Given the description of an element on the screen output the (x, y) to click on. 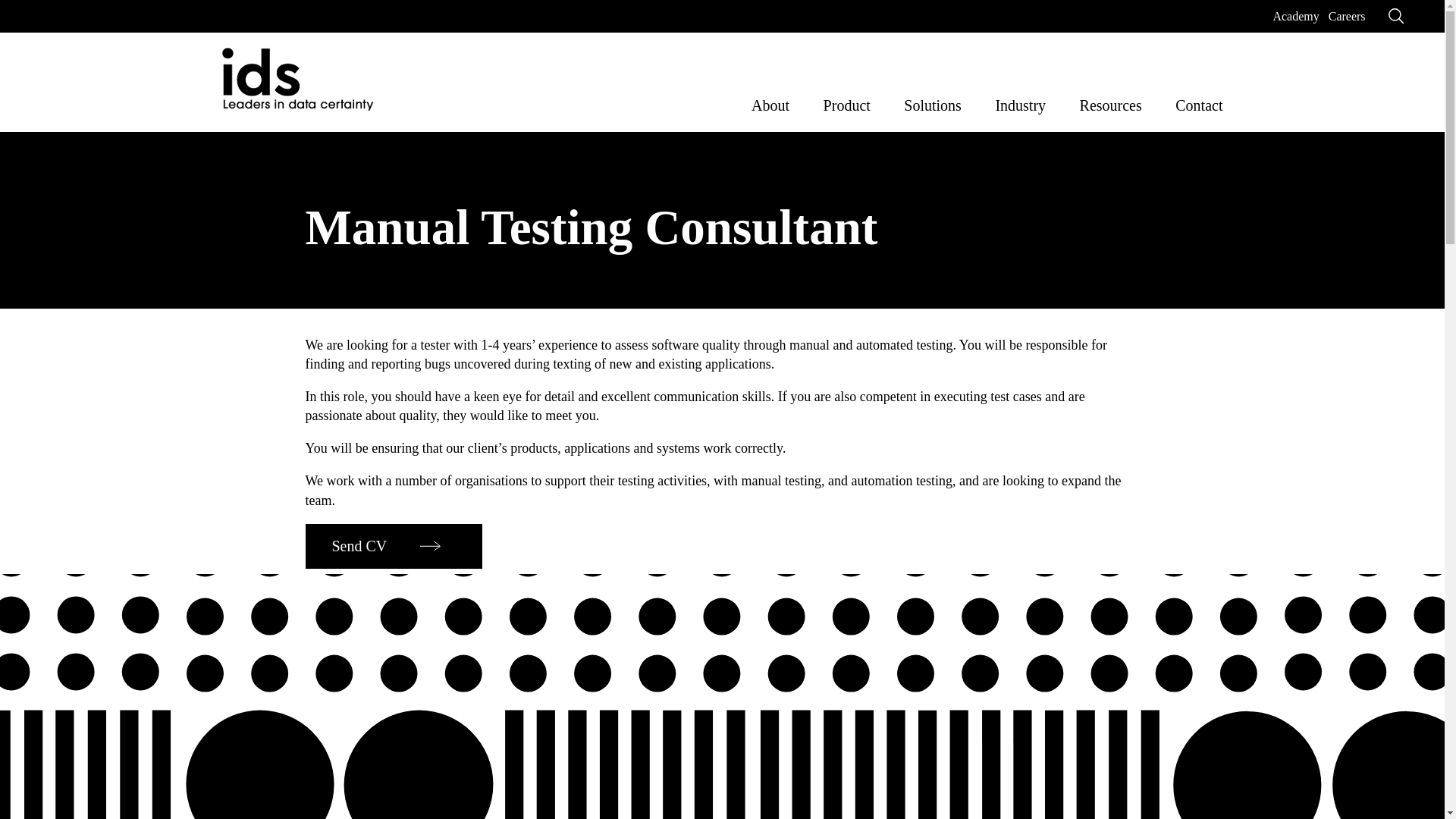
Careers (1346, 15)
Solutions (932, 101)
Academy (1295, 15)
Resources (1110, 101)
Industry (1019, 101)
Contact (1198, 101)
Send CV (392, 546)
About (770, 101)
Product (847, 101)
